Given the description of an element on the screen output the (x, y) to click on. 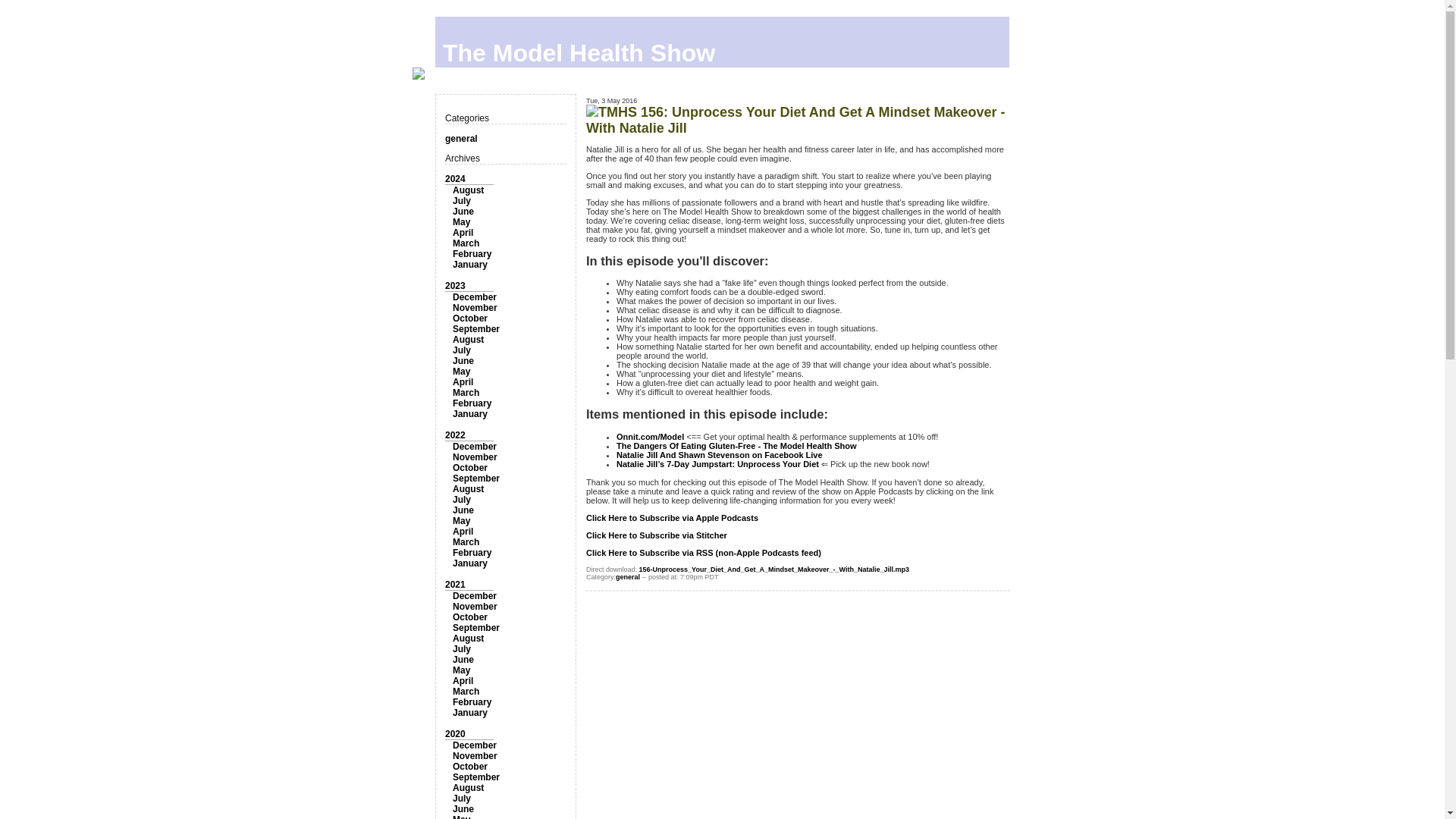
March (465, 243)
April (462, 232)
December (474, 296)
February (472, 552)
June (463, 510)
August (467, 489)
May (461, 520)
July (461, 200)
January (469, 562)
March (465, 542)
